Given the description of an element on the screen output the (x, y) to click on. 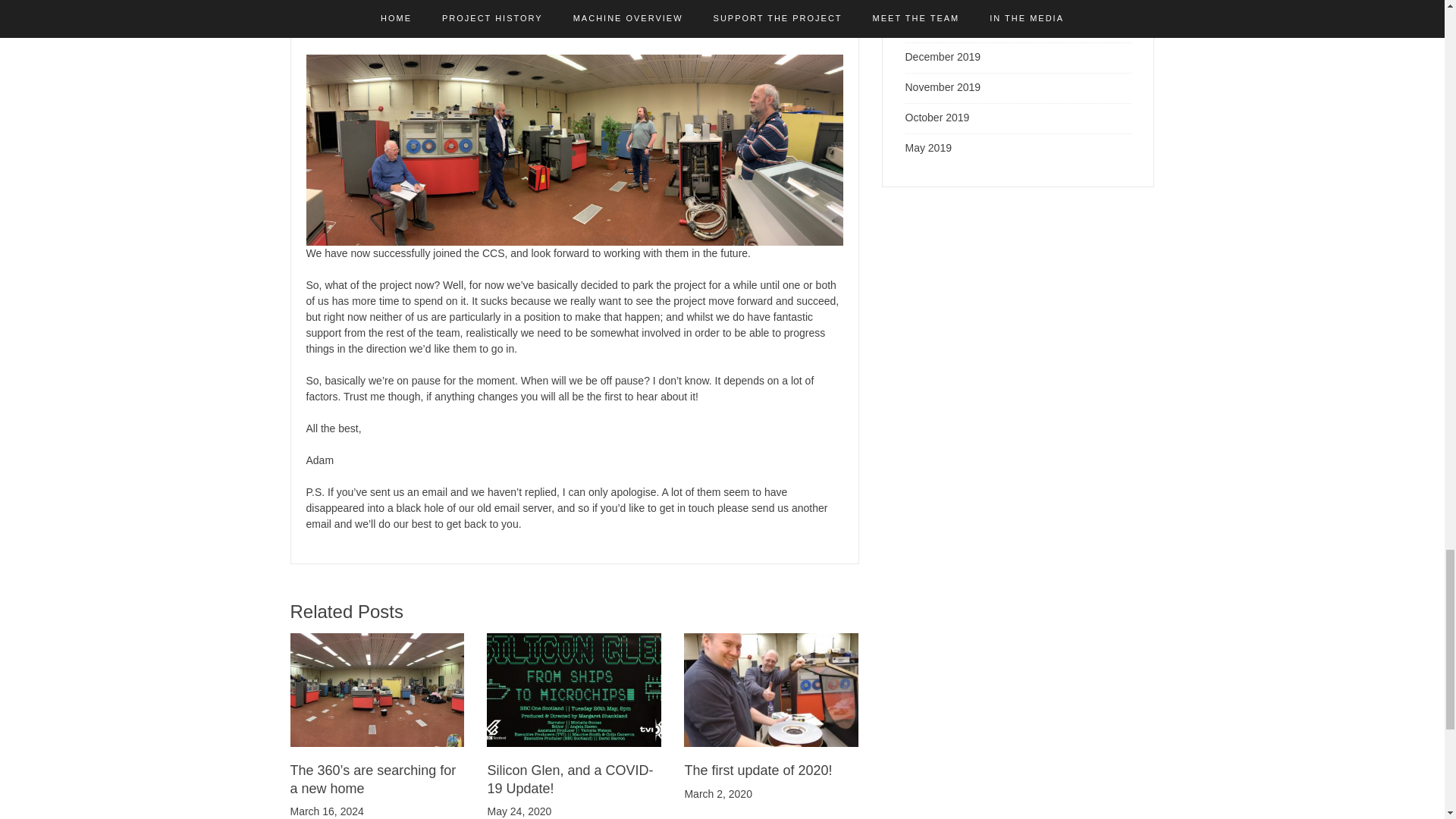
May 2020 (928, 1)
March 2020 (932, 26)
May 2019 (928, 147)
The first update of 2020! (757, 770)
October 2019 (937, 117)
Silicon Glen, and a COVID-19 Update! (569, 778)
November 2019 (943, 87)
December 2019 (943, 56)
